Given the description of an element on the screen output the (x, y) to click on. 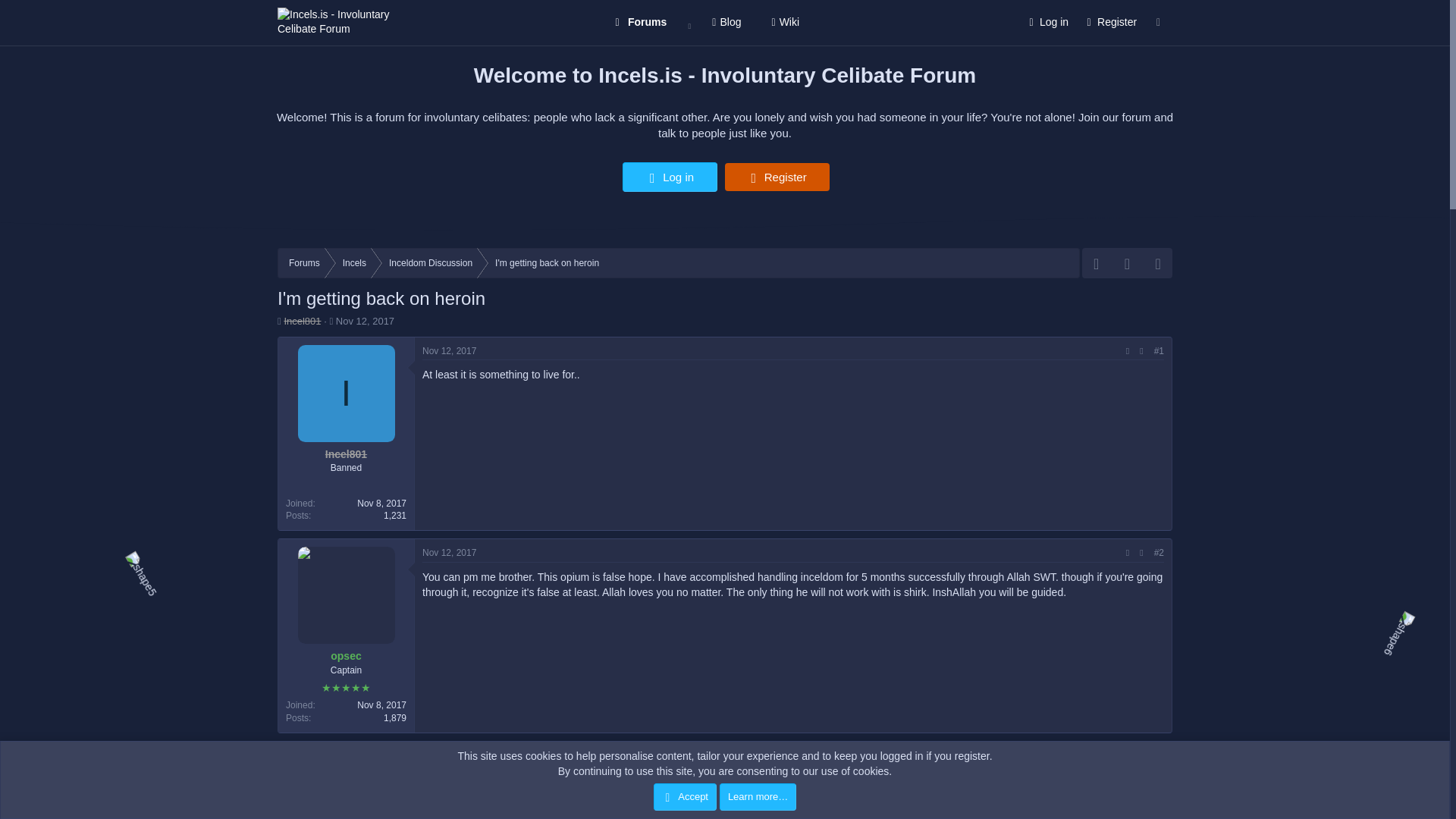
Register (1109, 22)
Nov 12, 2017 (449, 755)
Nov 12, 2017 (449, 350)
Blog (726, 22)
RSS (1157, 263)
Log in (670, 176)
Incels (354, 263)
Nov 12, 2017 (365, 320)
Nov 12, 2017 at 1:49 AM (449, 552)
Forums (304, 263)
